Given the description of an element on the screen output the (x, y) to click on. 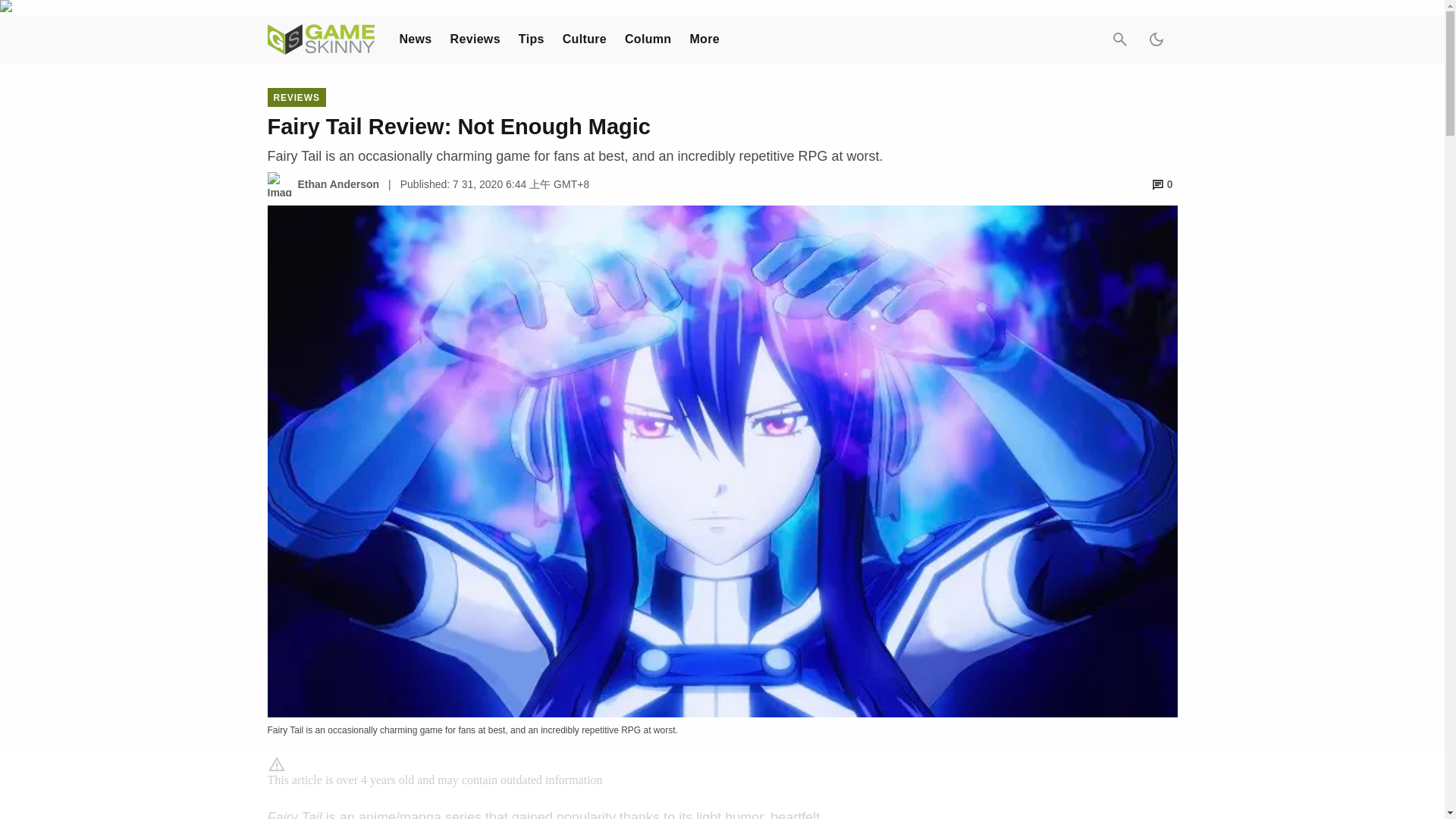
Reviews (474, 38)
3rd party ad content (721, 785)
Culture (584, 38)
Dark Mode (1155, 39)
Column (647, 38)
3rd party ad content (1062, 787)
Tips (531, 38)
News (414, 38)
Search (1118, 39)
